Given the description of an element on the screen output the (x, y) to click on. 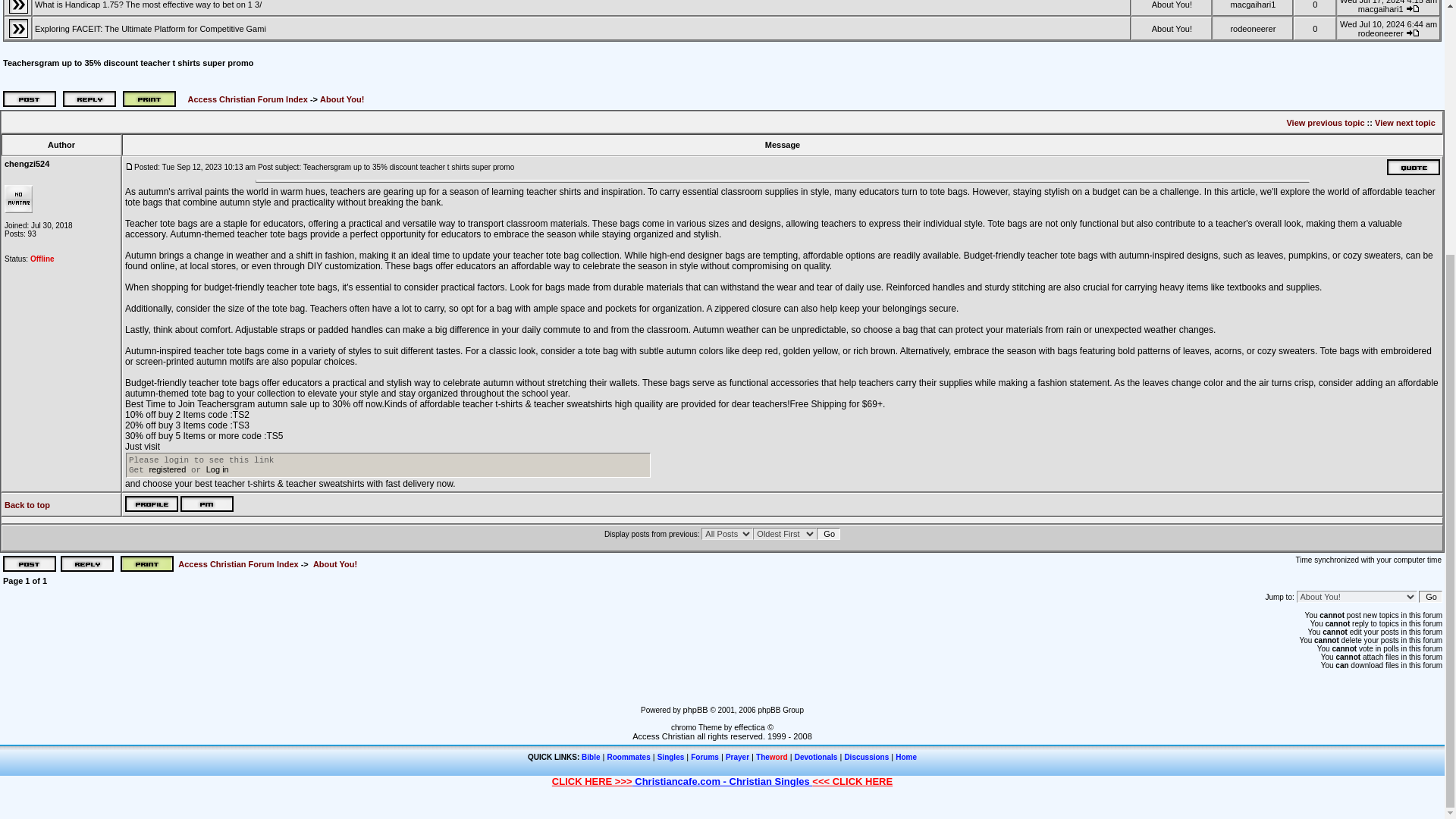
View latest post (1412, 32)
Go (1430, 596)
View latest post (1412, 8)
View user's profile (151, 503)
chengzi524 is offline (42, 258)
Send private message (206, 503)
Post (129, 165)
Go (828, 533)
Reply with quote (1413, 166)
